Given the description of an element on the screen output the (x, y) to click on. 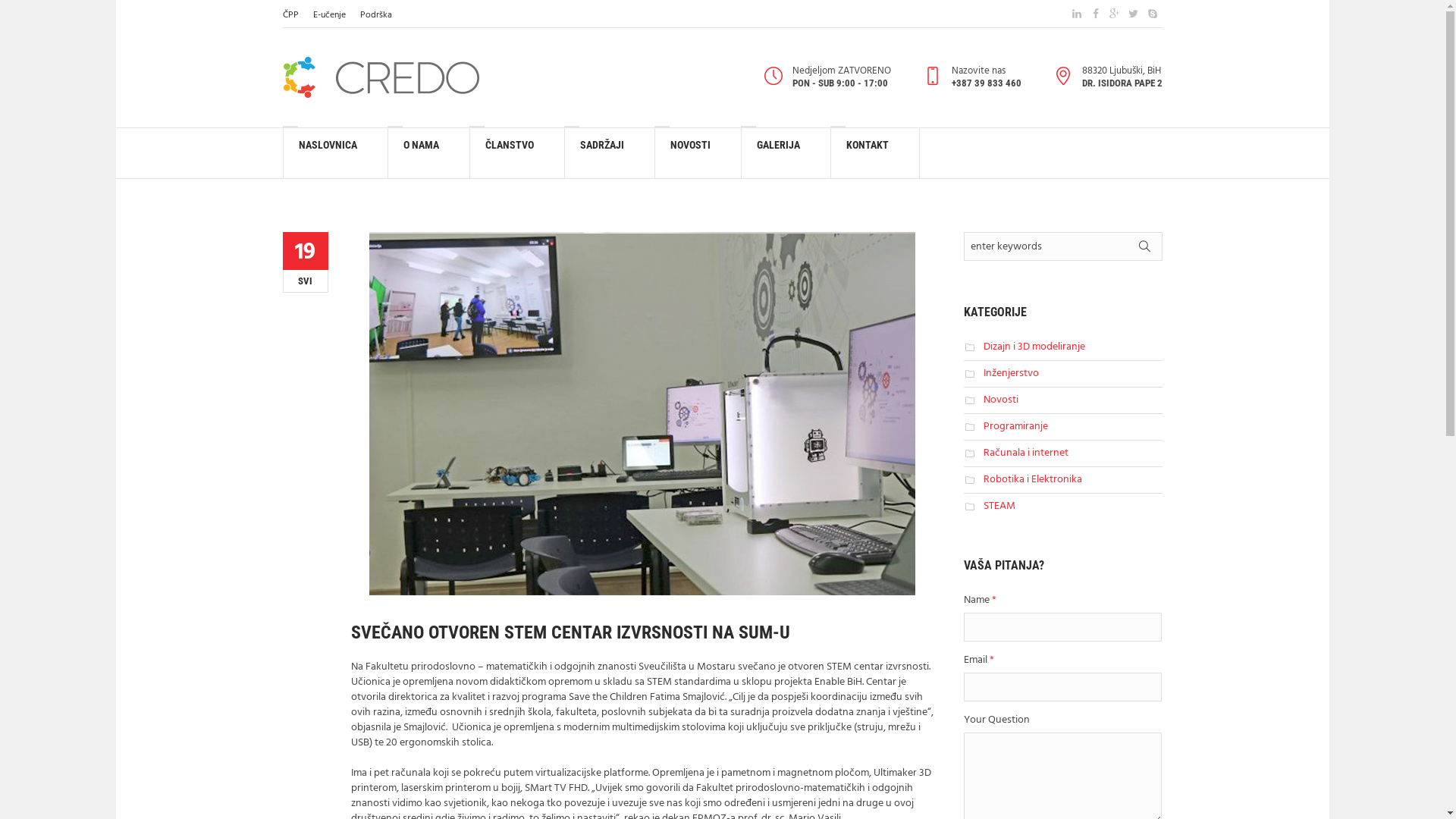
GALERIJA Element type: text (785, 152)
NOVOSTI Element type: text (697, 152)
Twitter Element type: hover (1132, 13)
Robotika i Elektronika Element type: text (1032, 479)
Programiranje Element type: text (1015, 426)
Skype Element type: hover (1152, 13)
NASLOVNICA Element type: text (335, 152)
Facebook Element type: hover (1094, 13)
Linkedin Element type: hover (1076, 13)
Novosti Element type: text (1000, 399)
Dizajn i 3D modeliranje Element type: text (1034, 346)
KONTAKT Element type: text (875, 152)
Google Element type: hover (1114, 13)
O NAMA Element type: text (428, 152)
STEAM Element type: text (999, 505)
